Given the description of an element on the screen output the (x, y) to click on. 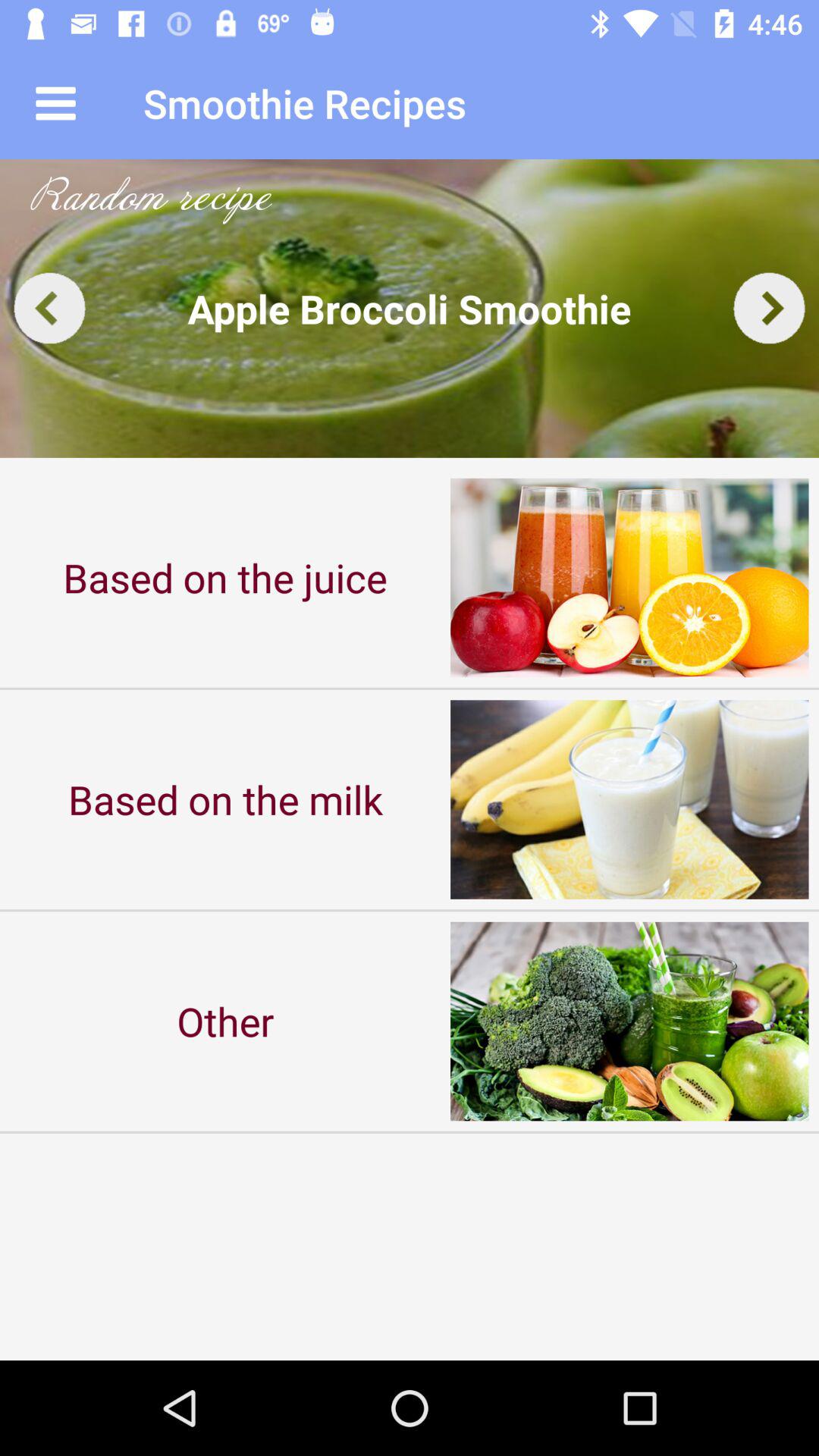
go forward (769, 308)
